Given the description of an element on the screen output the (x, y) to click on. 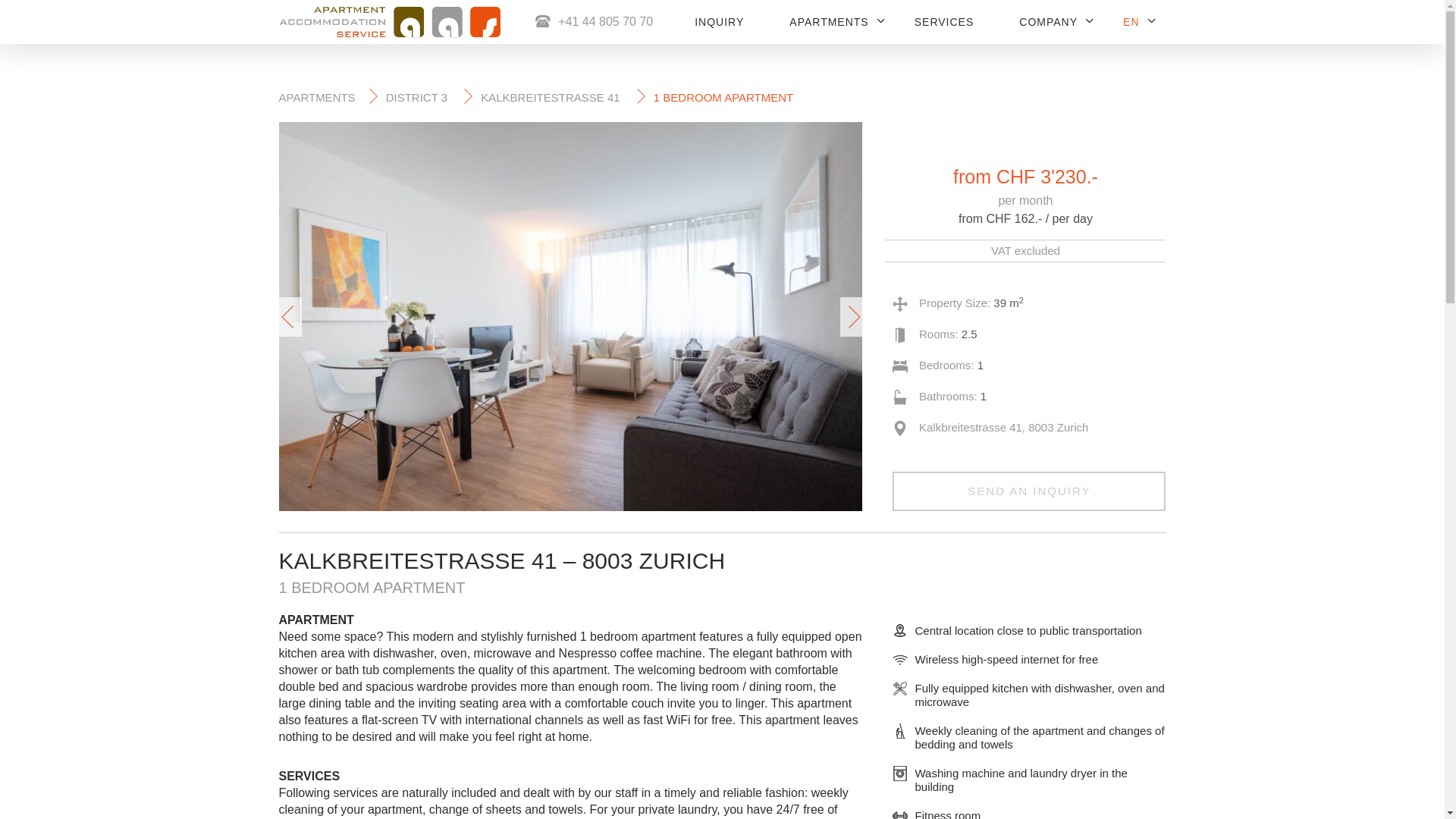
COMPANY Element type: text (1048, 26)
+41 44 805 70 70 Element type: text (601, 25)
APARTMENTS Element type: text (828, 26)
AAS Apartment Service AG Element type: text (426, 51)
INQUIRY Element type: text (719, 26)
DISTRICT 3 Element type: text (418, 97)
Skip to primary navigation Element type: text (0, 0)
EN Element type: text (1130, 26)
SERVICES Element type: text (944, 26)
NEXT Element type: text (851, 316)
KALKBREITESTRASSE 41 Element type: text (551, 97)
SEND AN INQUIRY Element type: text (1028, 491)
PREVIOUS Element type: text (290, 316)
